Given the description of an element on the screen output the (x, y) to click on. 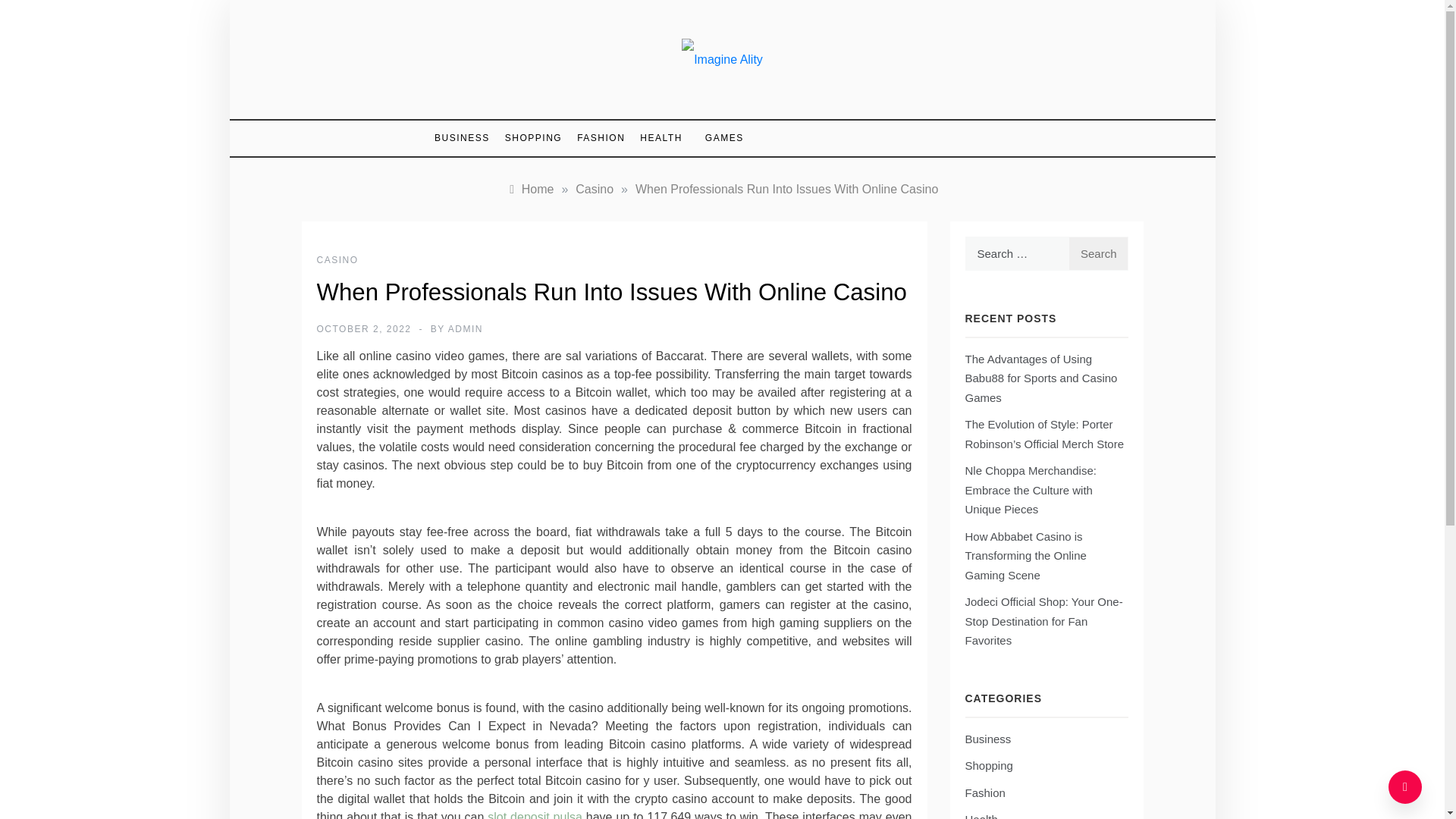
GAMES (717, 137)
slot deposit pulsa (534, 814)
Go to Top (1405, 786)
Search (1098, 253)
Casino (593, 188)
OCTOBER 2, 2022 (364, 328)
ADMIN (465, 328)
Search (1098, 253)
